Given the description of an element on the screen output the (x, y) to click on. 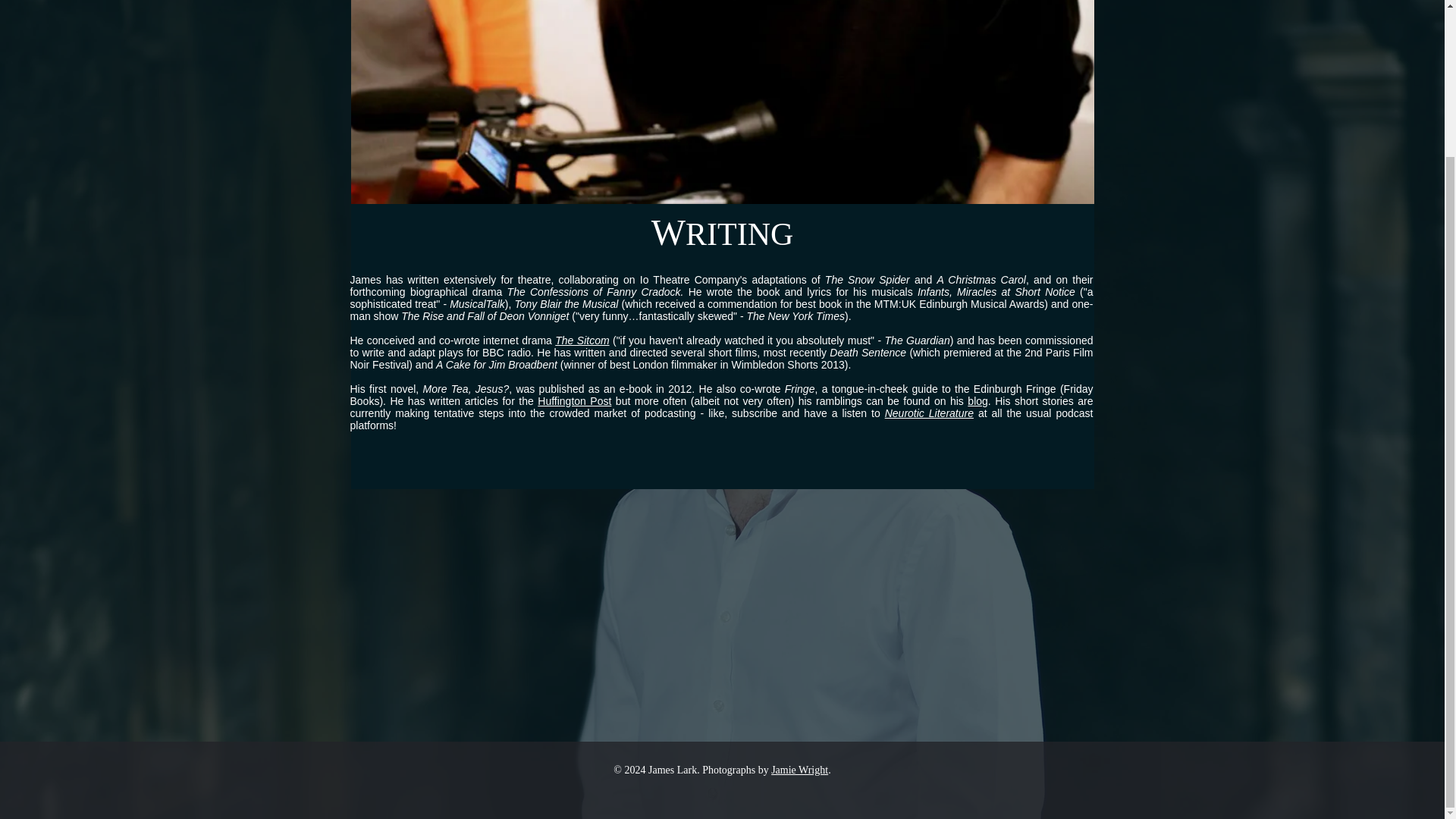
Jamie Wright (799, 586)
The Sitcom (581, 340)
blog (977, 400)
Huffington Post (574, 400)
Neurotic Literature (929, 413)
